Given the description of an element on the screen output the (x, y) to click on. 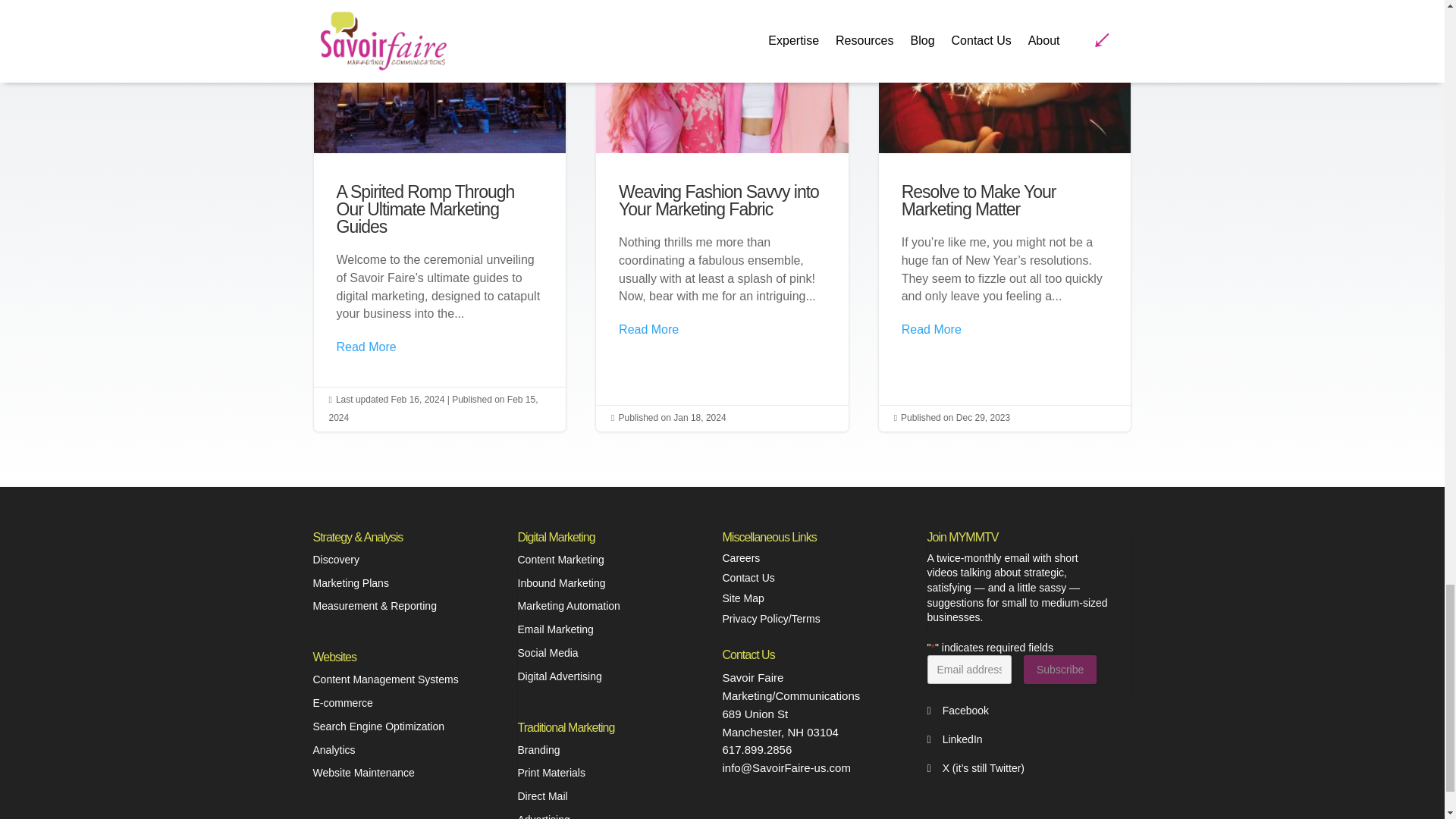
Subscribe (1059, 669)
